Given the description of an element on the screen output the (x, y) to click on. 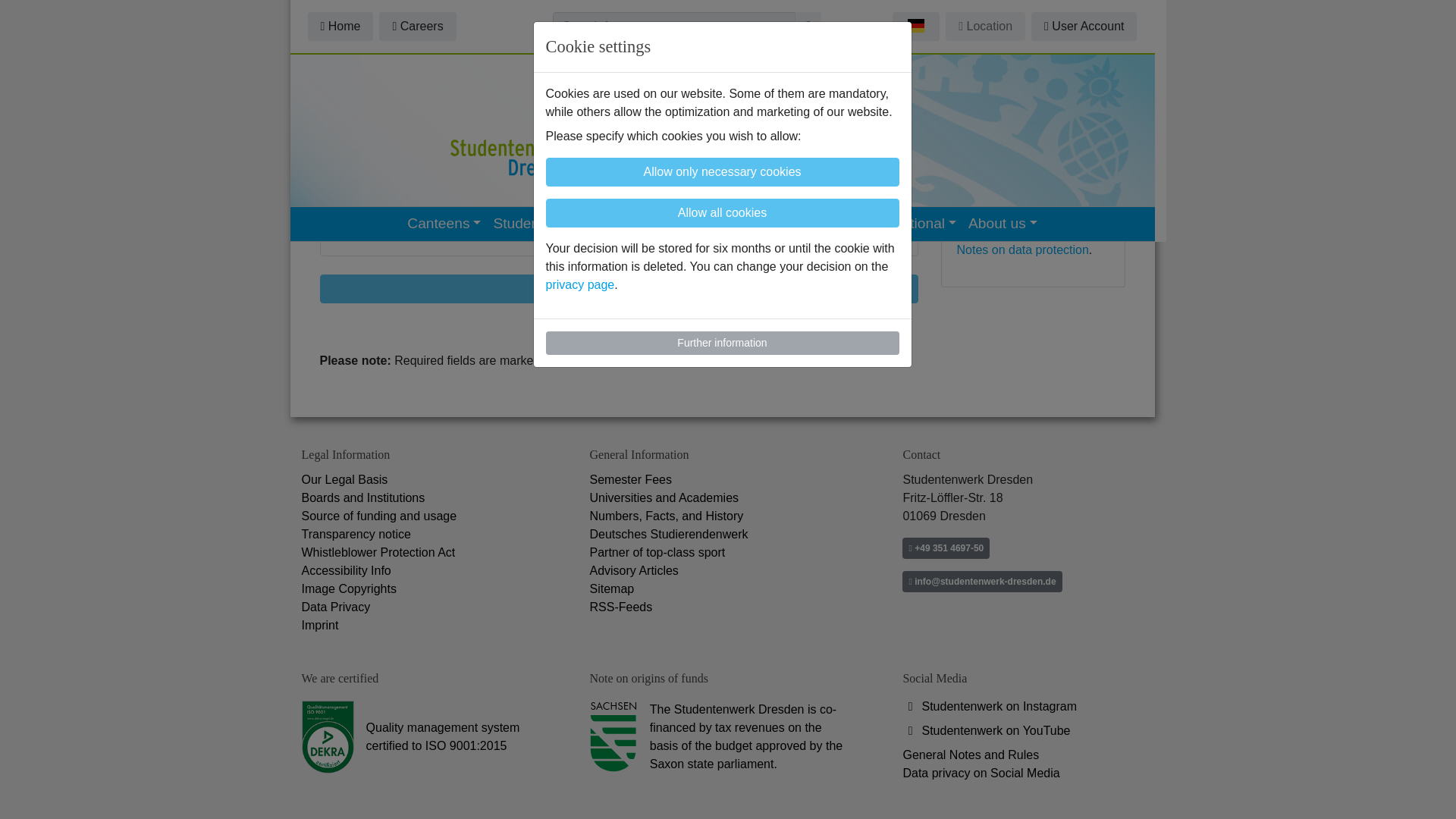
next (619, 288)
